Given the description of an element on the screen output the (x, y) to click on. 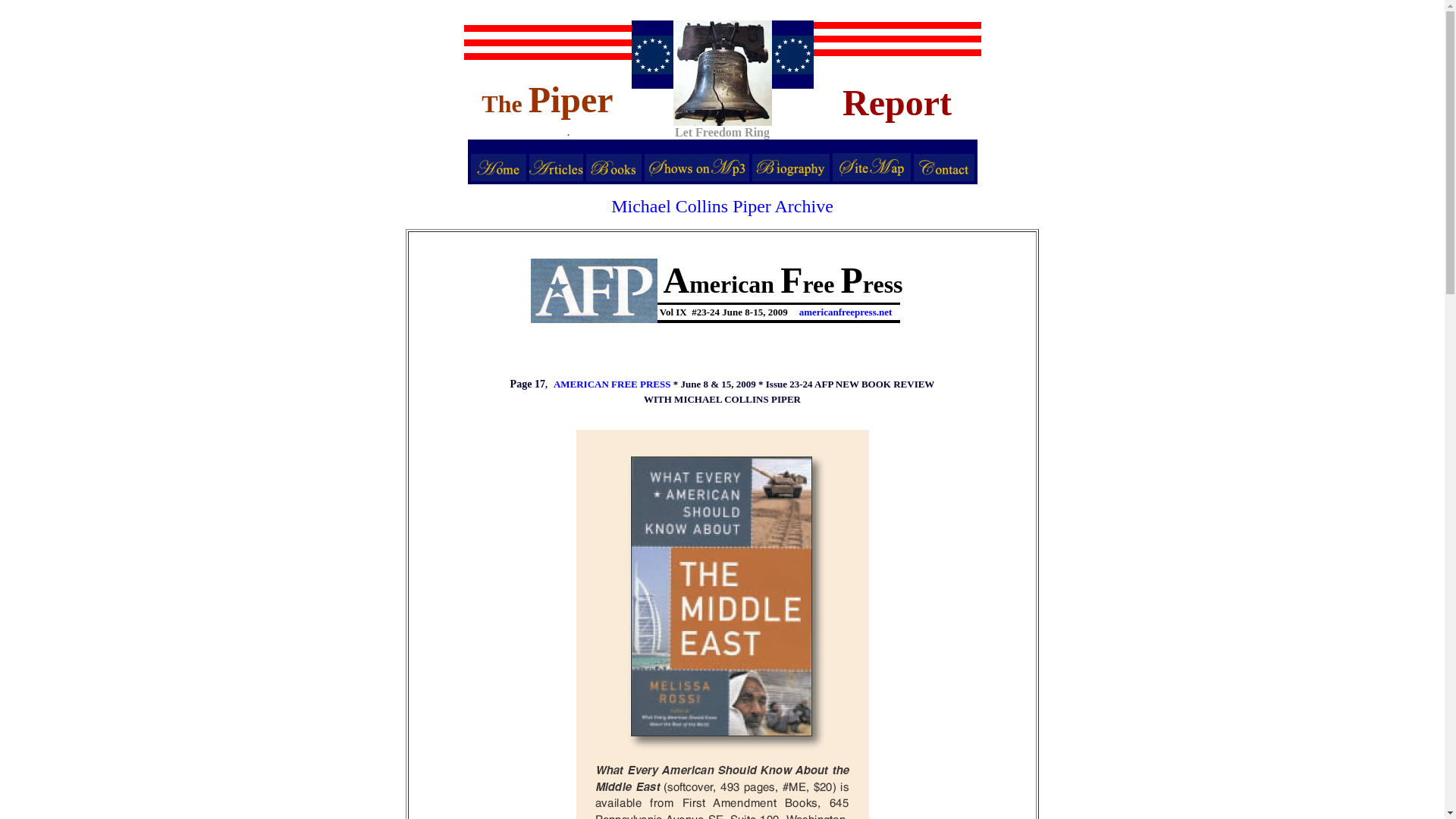
AMERICAN FREE PRESS (612, 383)
Michael Collins Piper Archive (721, 206)
americanfreepress.net (845, 311)
